Given the description of an element on the screen output the (x, y) to click on. 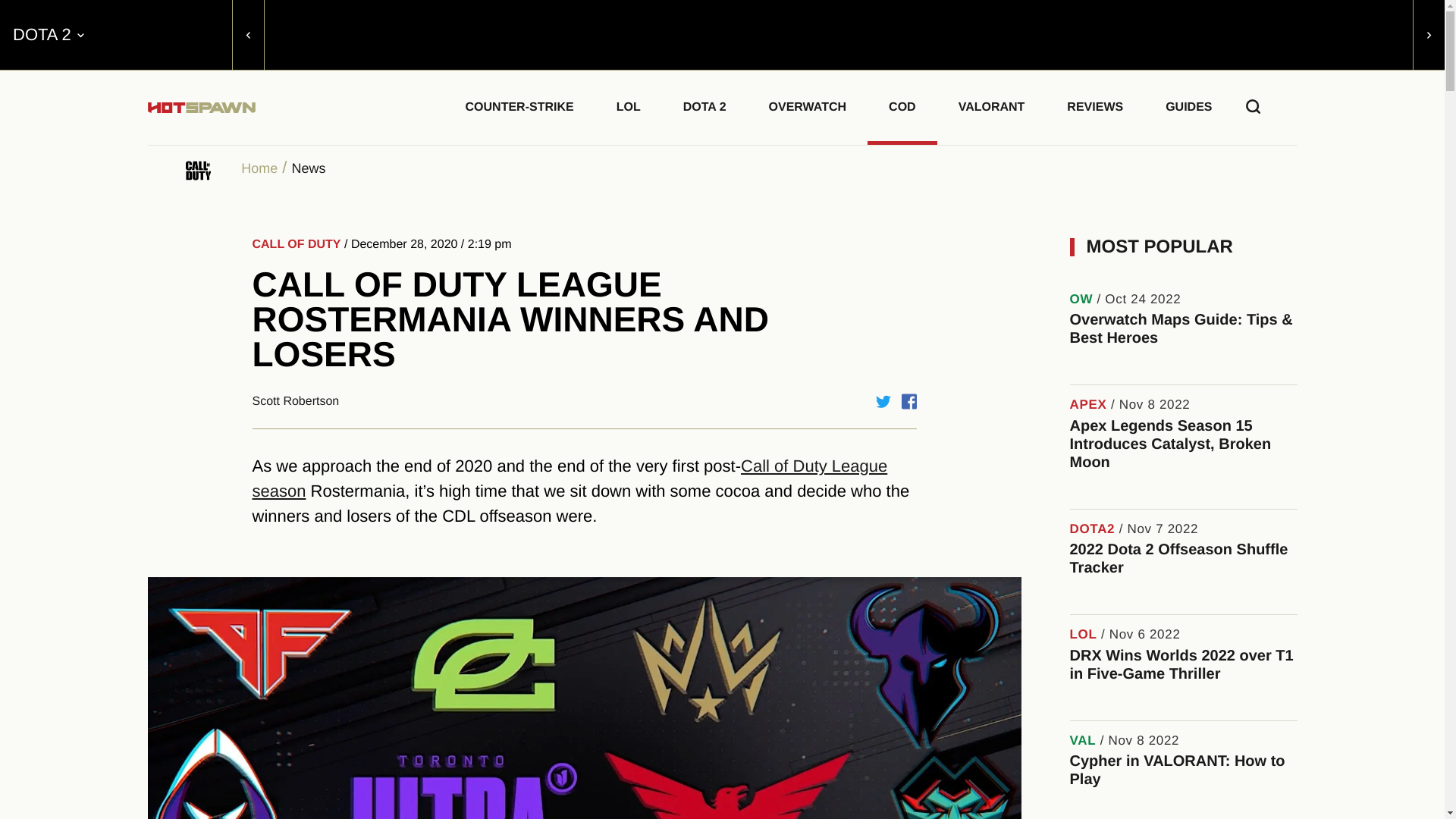
COUNTER-STRIKE (519, 105)
LOL (628, 105)
